Given the description of an element on the screen output the (x, y) to click on. 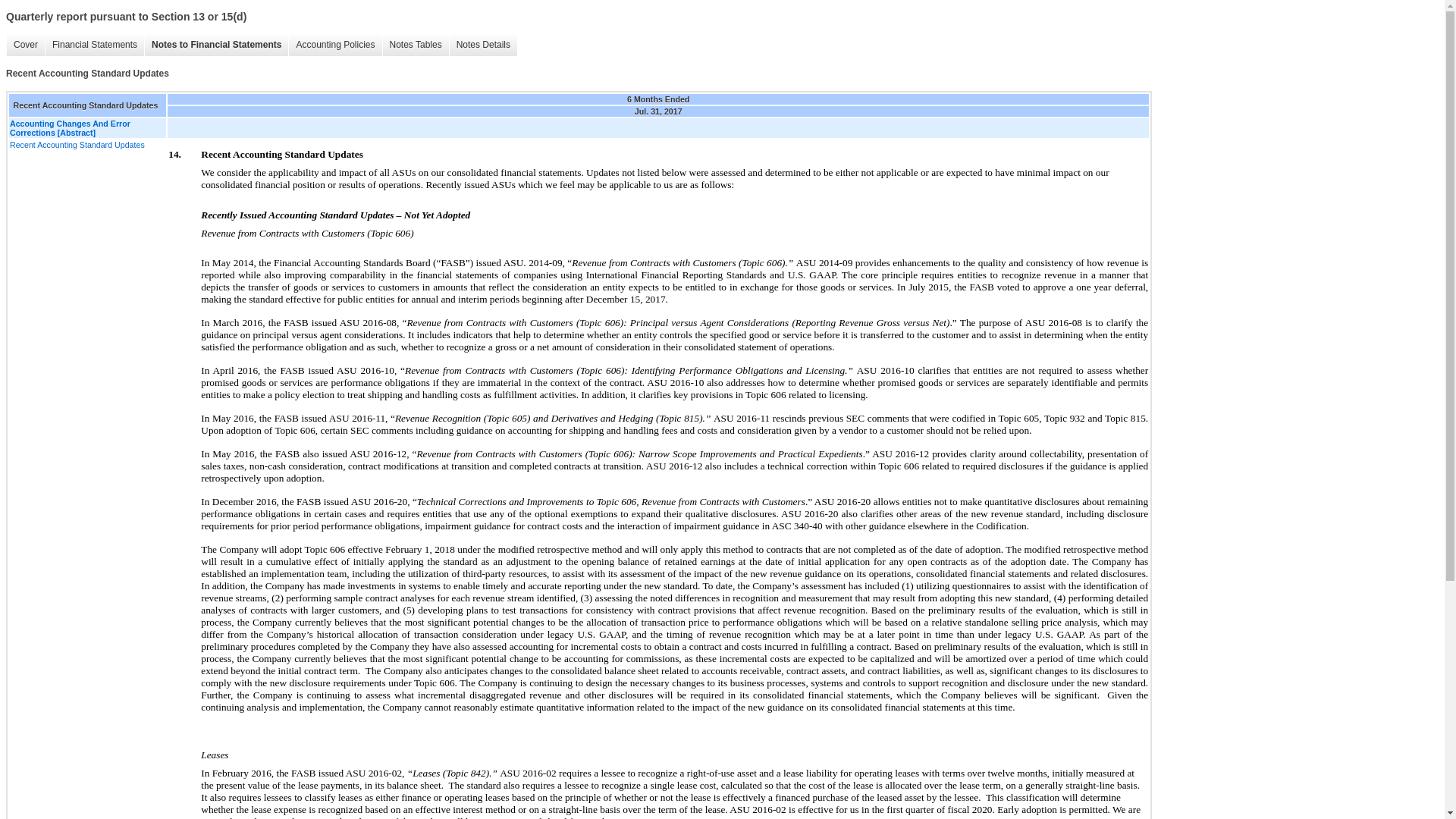
Accounting Policies (334, 44)
Notes Details (482, 44)
Financial Statements (94, 44)
Cover (25, 44)
Notes Tables (414, 44)
Notes to Financial Statements (216, 44)
